Given the description of an element on the screen output the (x, y) to click on. 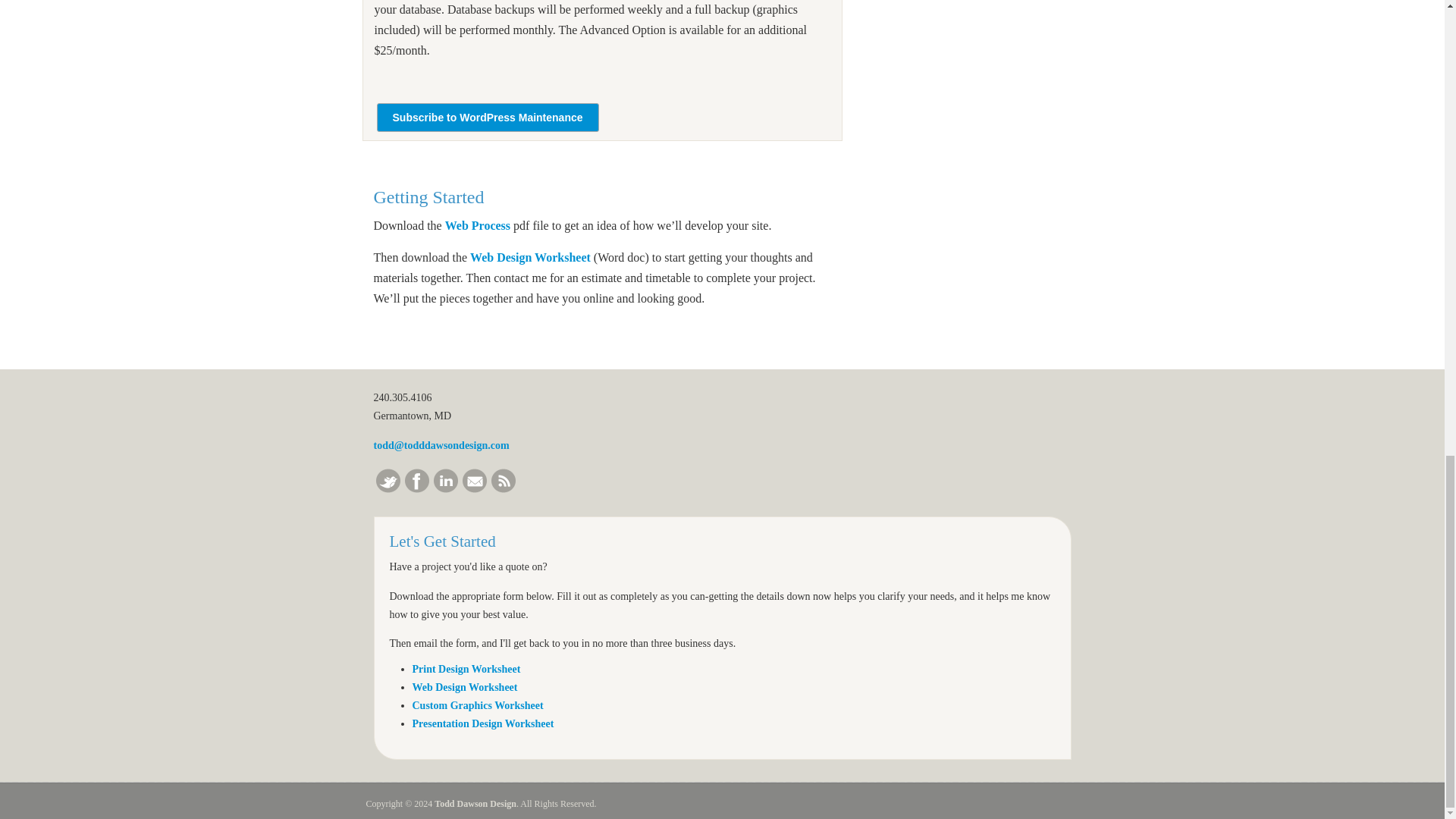
Presentation Design Worksheet (483, 723)
Print Design Worksheet (466, 668)
RSS (503, 488)
Web Process (478, 225)
E-mail (474, 488)
Web Design Worksheet (465, 686)
WP Maintenance (486, 117)
Custom Graphics Worksheet (477, 705)
LinkedIn (445, 488)
Twitter (387, 488)
